Given the description of an element on the screen output the (x, y) to click on. 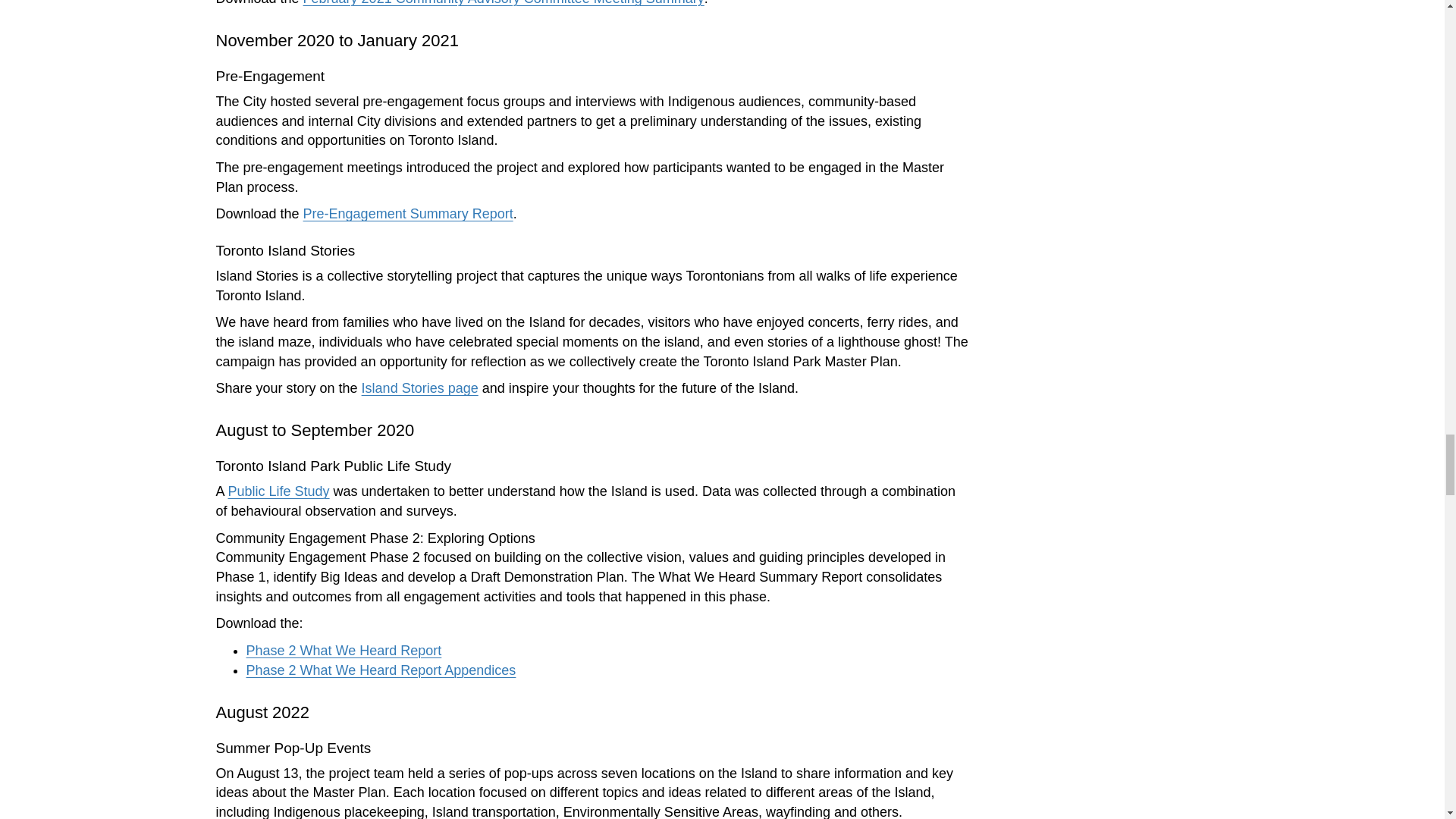
Phase 2 What We Heard Report (343, 650)
Public Life Study (279, 491)
February 2021 Community Advisory Committee Meeting Summary (503, 2)
Island Stories page (420, 387)
Pre-Engagement Summary Report (407, 213)
Phase 2 What We Heard Report Appendices (380, 670)
